Given the description of an element on the screen output the (x, y) to click on. 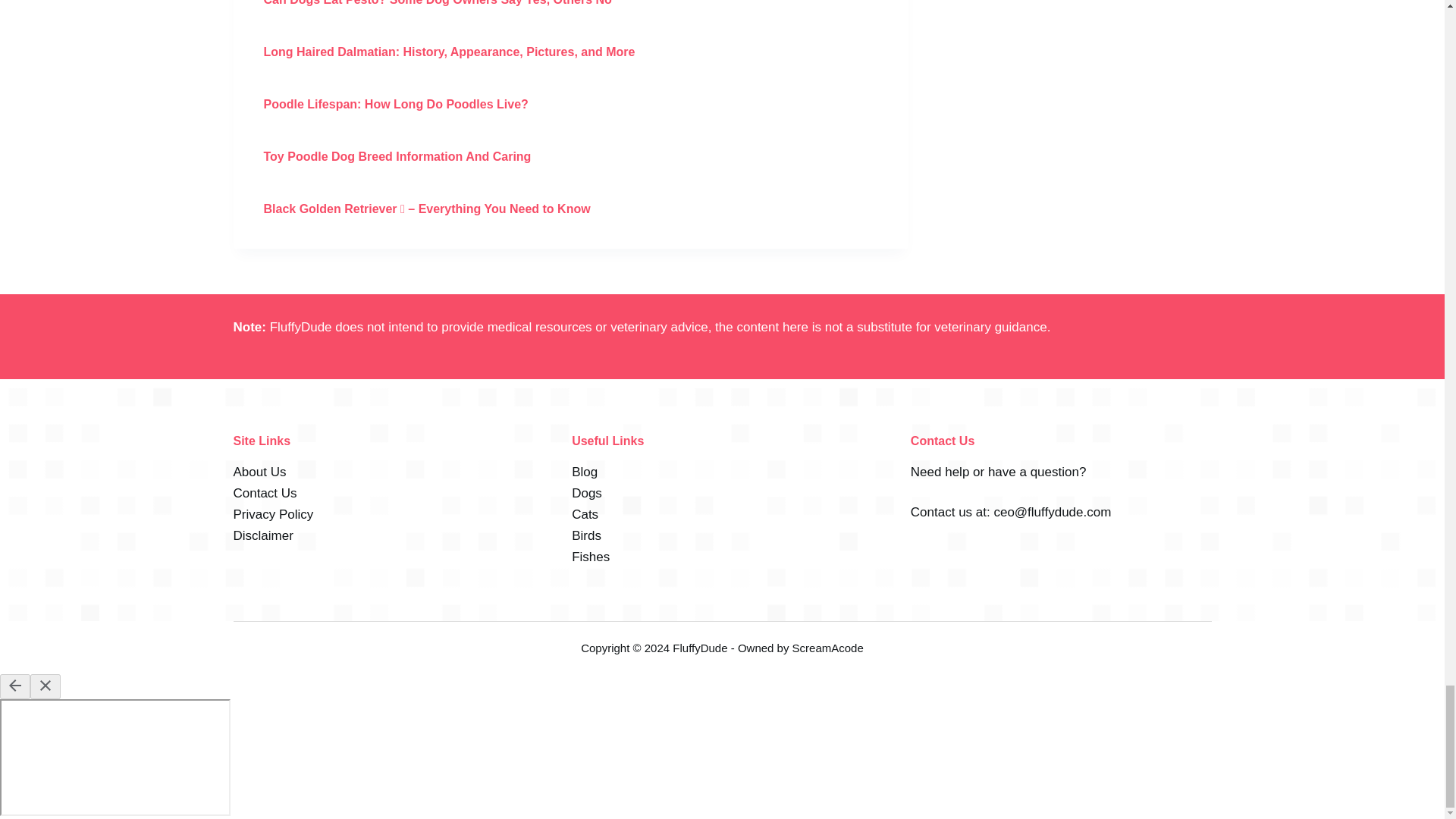
Can Dogs Eat Pesto? Some Dog Owners Say Yes, Others No (437, 2)
Poodle Lifespan: How Long Do Poodles Live? (395, 103)
Toy Poodle Dog Breed Information And Caring (397, 155)
Privacy Policy (273, 513)
About Us (259, 472)
Contact Us (264, 493)
Dogs (587, 493)
Disclaimer (263, 535)
Blog (584, 472)
